Given the description of an element on the screen output the (x, y) to click on. 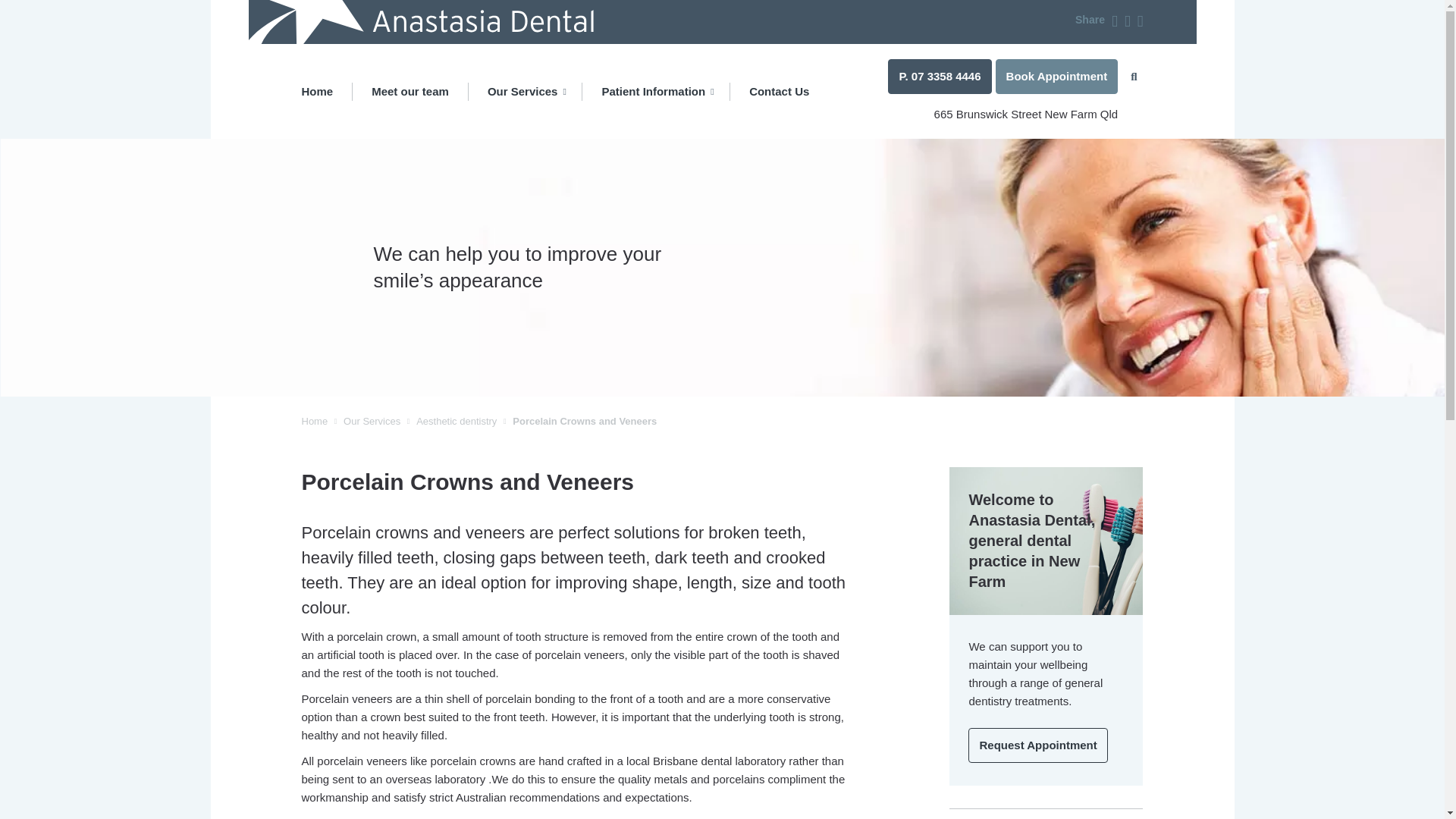
P. 07 3358 4446 (939, 76)
Anastasia Dental (421, 22)
Our Services (525, 90)
Book Appointment (1056, 76)
Home (326, 90)
Meet our team (409, 90)
